Given the description of an element on the screen output the (x, y) to click on. 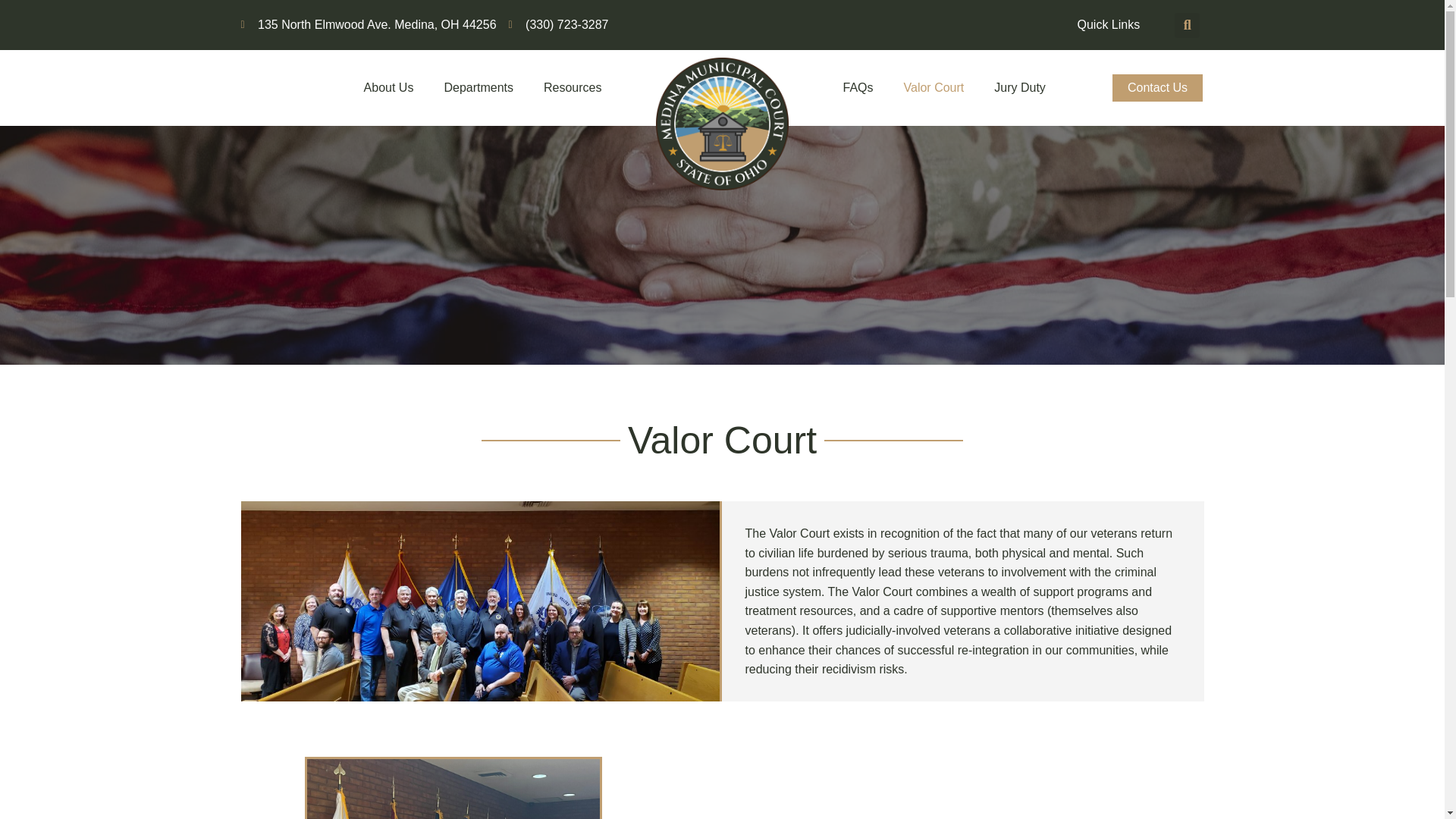
Resources (571, 87)
About Us (389, 87)
135 North Elmwood Ave. Medina, OH 44256 (368, 25)
Quick Links (1107, 24)
Departments (478, 87)
